Given the description of an element on the screen output the (x, y) to click on. 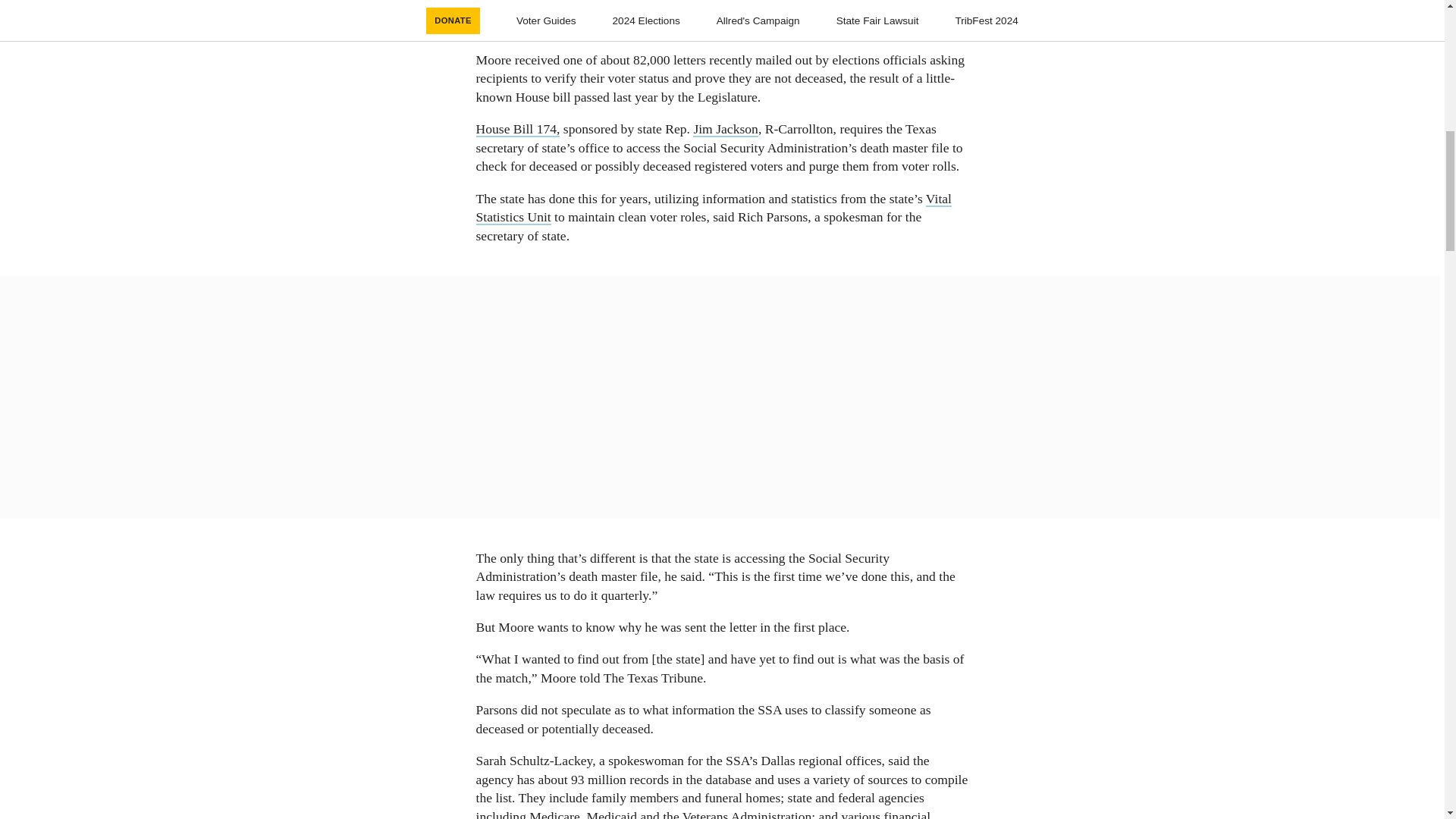
Jim Jackson (725, 129)
Vital Statistics Unit (714, 208)
House Bill 174, (518, 129)
